Given the description of an element on the screen output the (x, y) to click on. 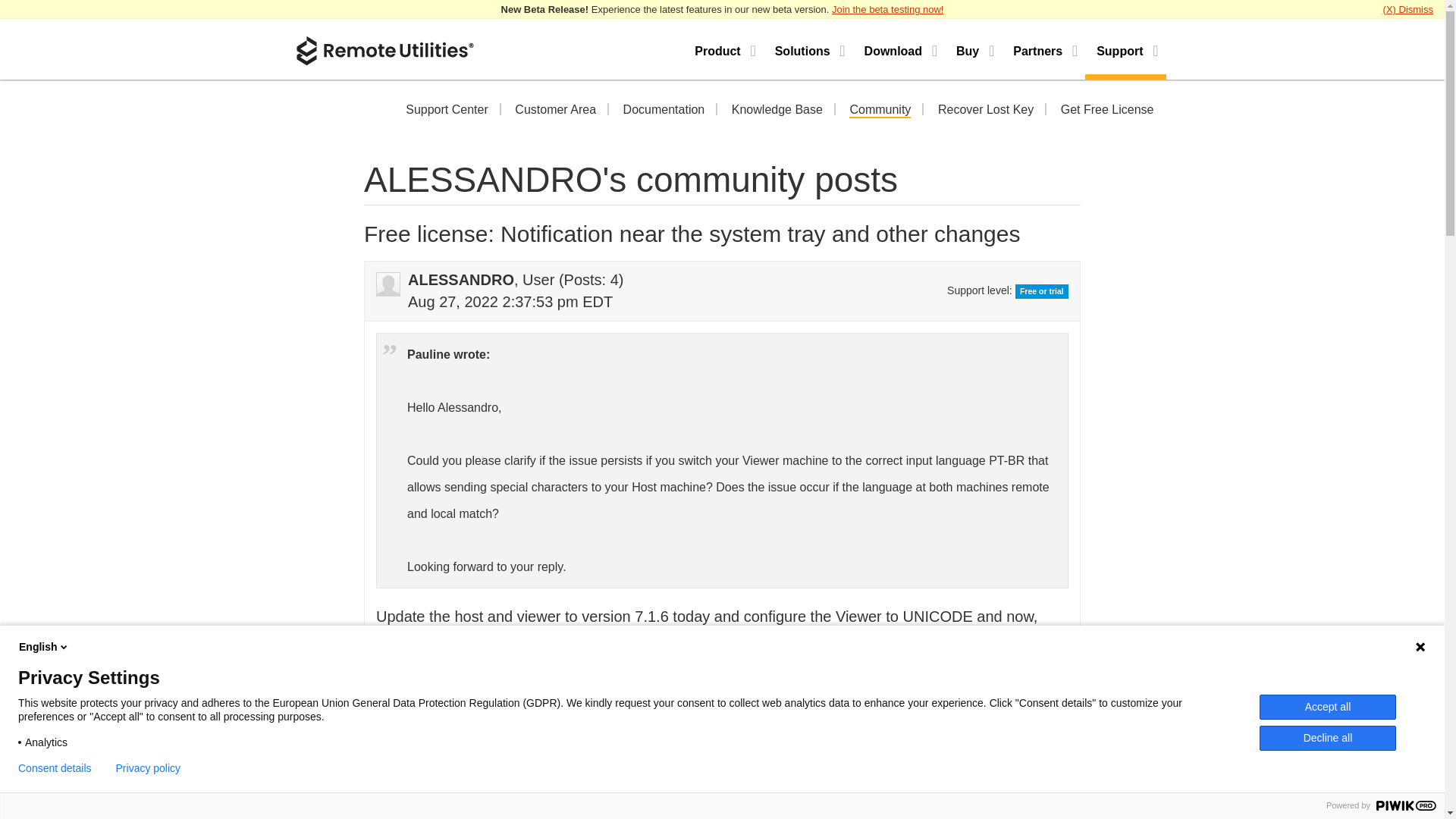
Piwik PRO (1405, 805)
Solutions (807, 48)
Support Center (446, 110)
Support (1125, 48)
Join the beta testing now! (887, 9)
Partners (1042, 48)
Buy (972, 48)
Product (722, 48)
Download (898, 48)
